Given the description of an element on the screen output the (x, y) to click on. 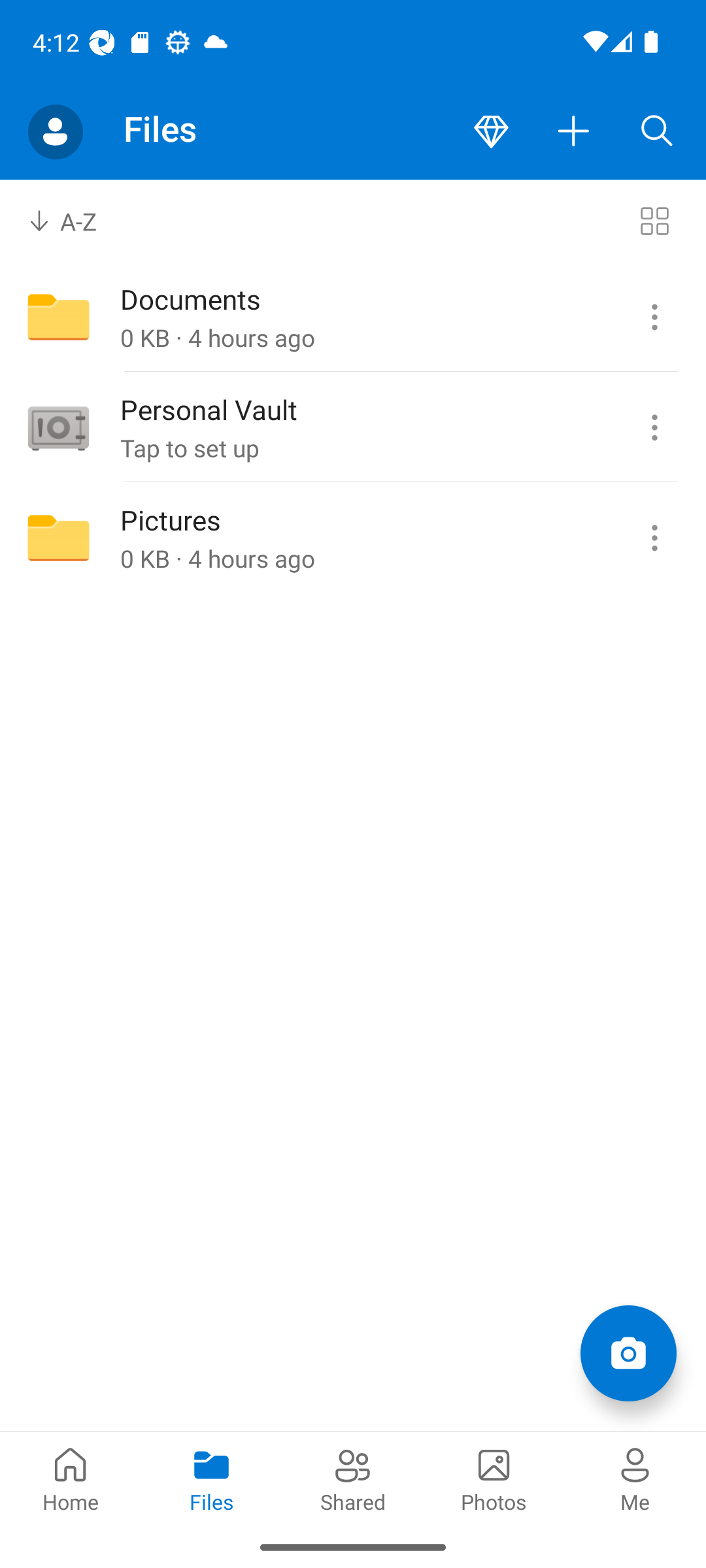
Account switcher (55, 131)
Premium button (491, 131)
More actions button (574, 131)
Search button (656, 131)
A-Z Sort by combo box, sort by name, A to Z (76, 220)
Switch to tiles view (654, 220)
Documents commands (654, 317)
Personal Vault commands (654, 427)
Pictures commands (654, 537)
Add items Scan (628, 1352)
Home pivot Home (70, 1478)
Shared pivot Shared (352, 1478)
Photos pivot Photos (493, 1478)
Me pivot Me (635, 1478)
